Given the description of an element on the screen output the (x, y) to click on. 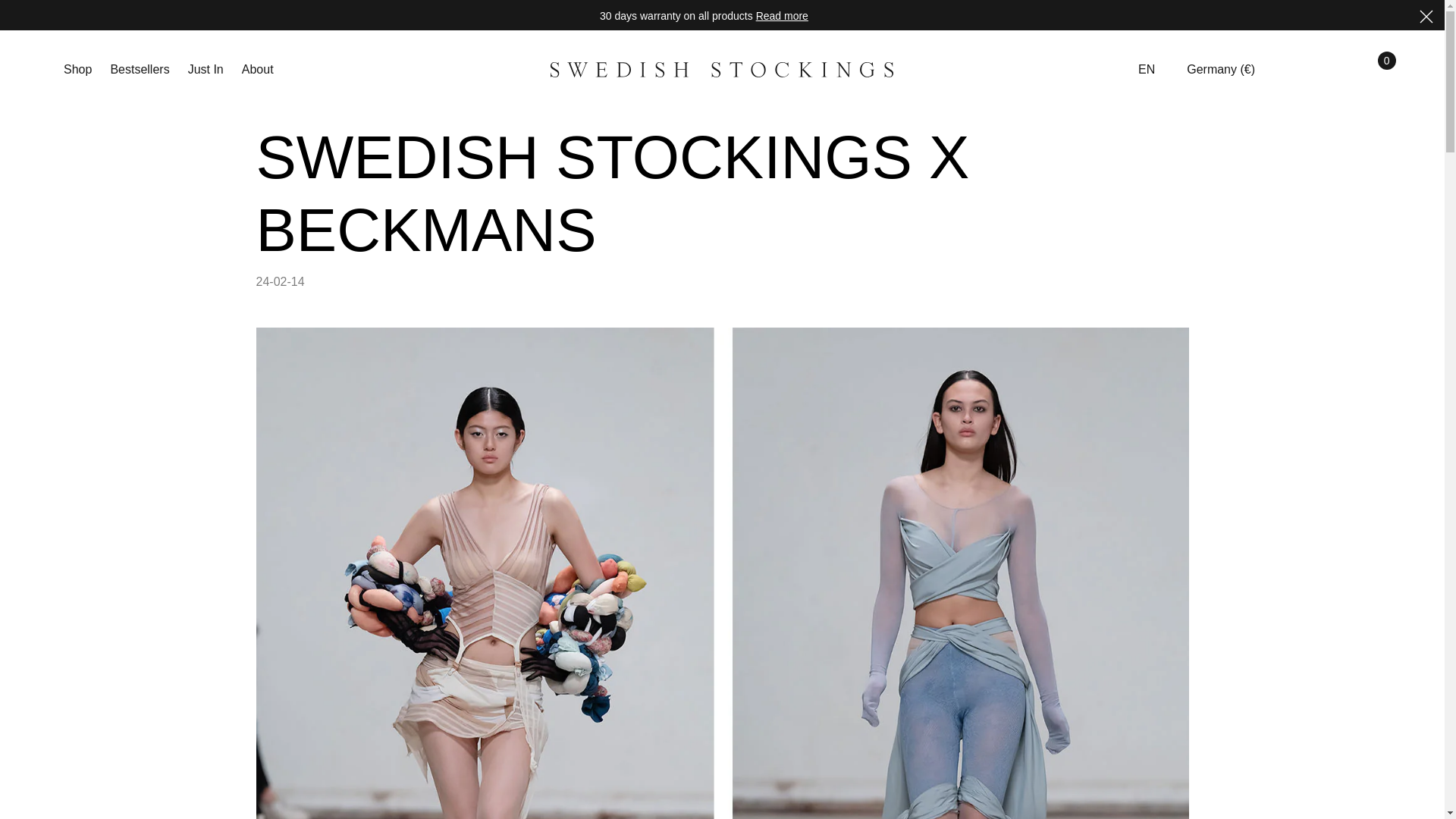
EN (1153, 69)
Shop (80, 69)
About (254, 69)
Just In (206, 69)
Bestsellers (138, 69)
